Given the description of an element on the screen output the (x, y) to click on. 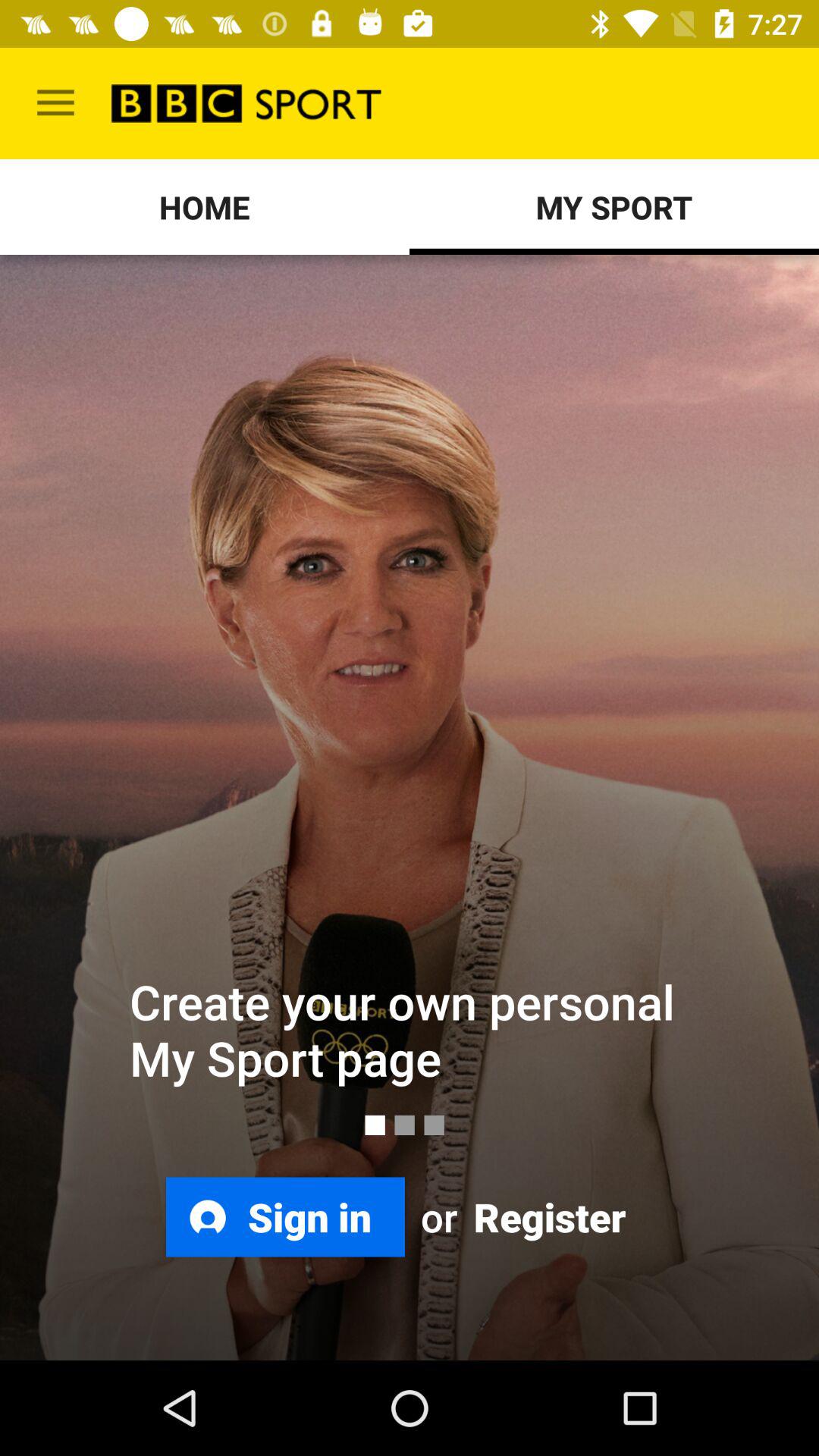
scroll to the sign in icon (285, 1216)
